Given the description of an element on the screen output the (x, y) to click on. 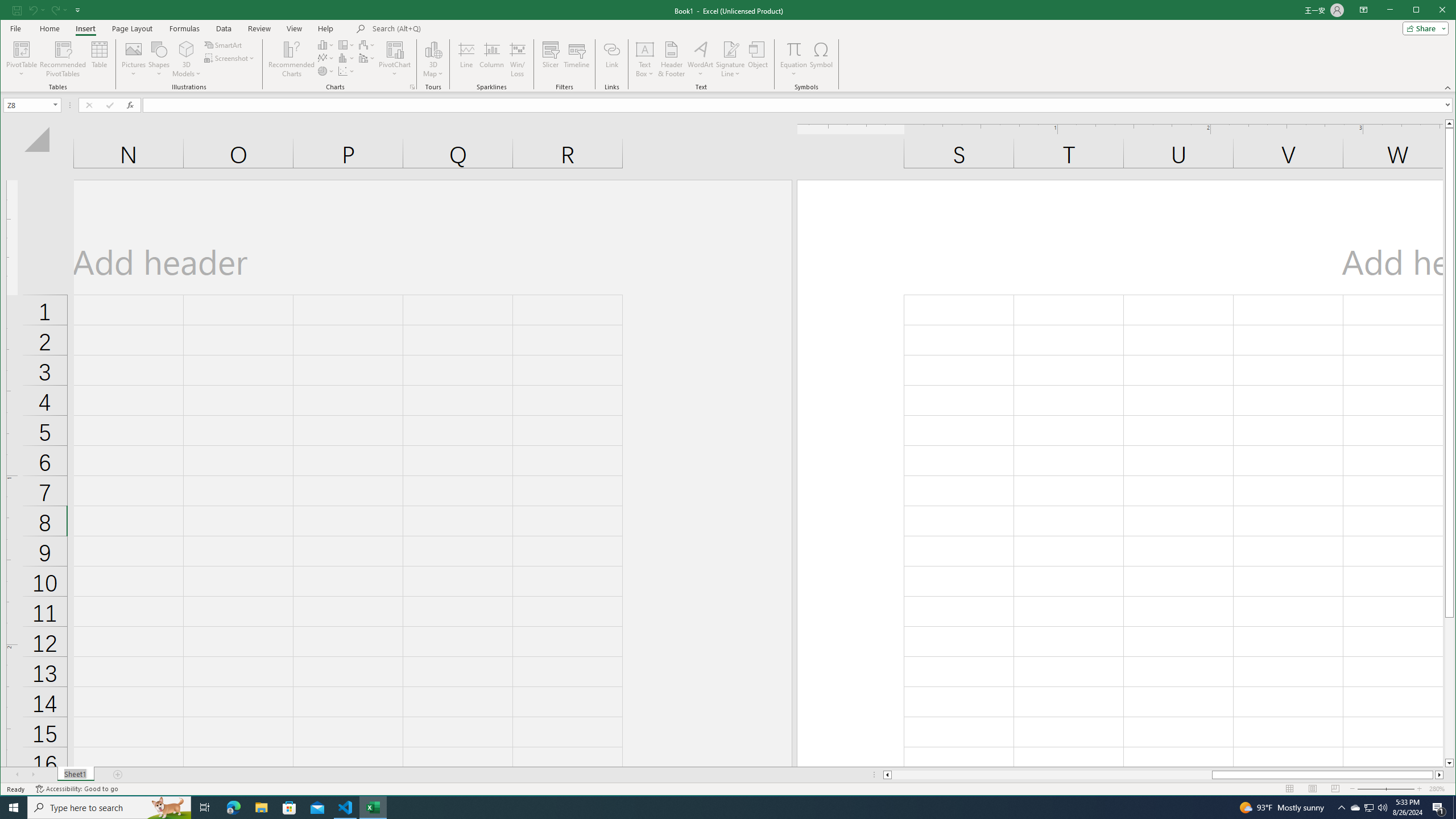
Q2790: 100% (1355, 807)
Running applications (1382, 807)
Equation (717, 807)
Signature Line (793, 48)
Insert Hierarchy Chart (729, 59)
Win/Loss (346, 44)
Type here to search (517, 59)
